Given the description of an element on the screen output the (x, y) to click on. 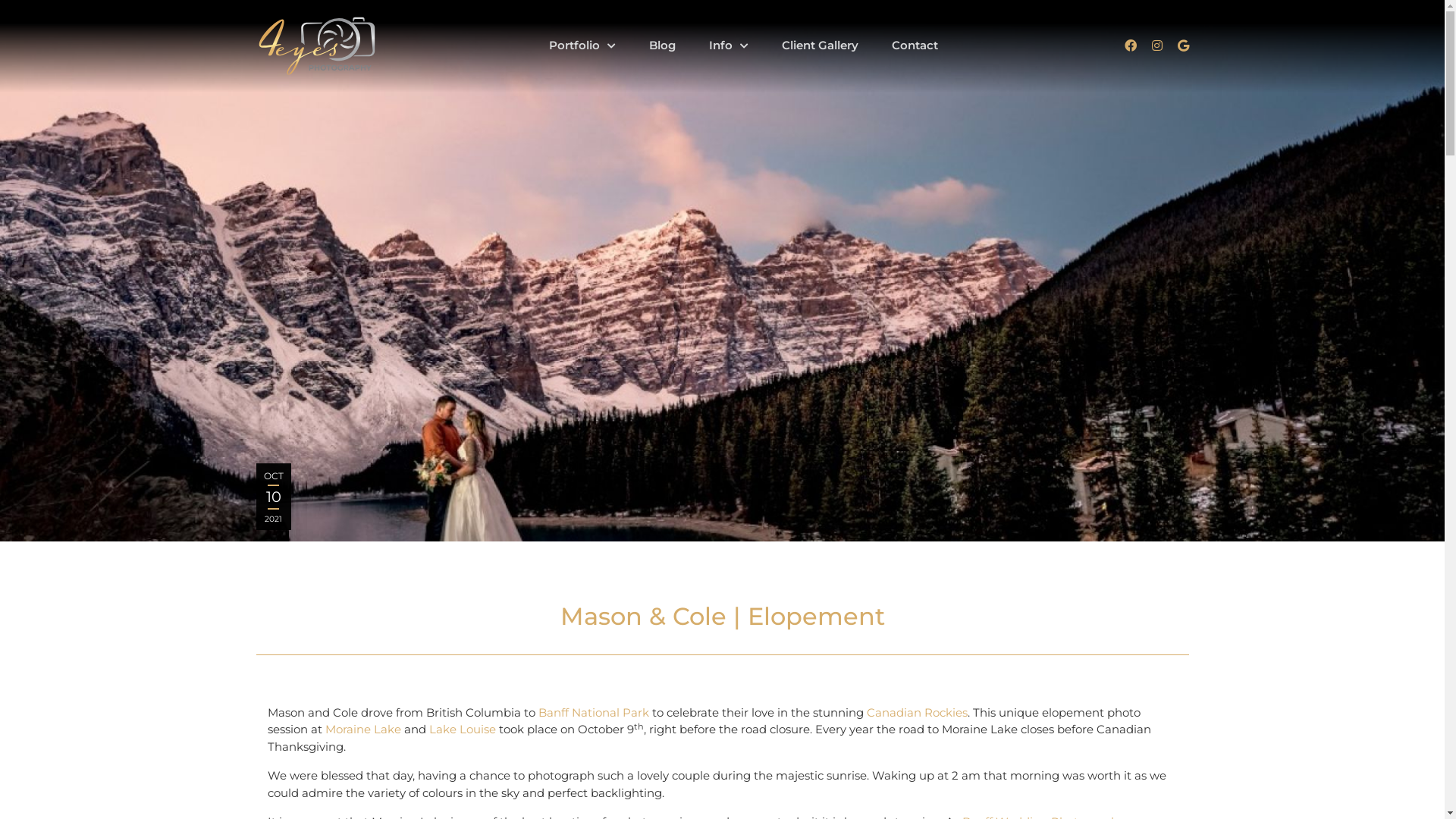
Blog Element type: text (661, 44)
Mason & Cole | Elopement Element type: hover (722, 270)
Contact Element type: text (914, 44)
4Eyes Photography Element type: hover (316, 46)
Instagram Element type: hover (1156, 45)
Portfolio Element type: text (581, 44)
Canadian Rockies Element type: text (916, 712)
Client Gallery Element type: text (818, 44)
Banff National Park Element type: text (593, 712)
Facebook Element type: hover (1129, 45)
Lake Louise Element type: text (462, 728)
Moraine Lake Element type: text (362, 728)
Google Element type: hover (1182, 45)
Info Element type: text (727, 44)
